Given the description of an element on the screen output the (x, y) to click on. 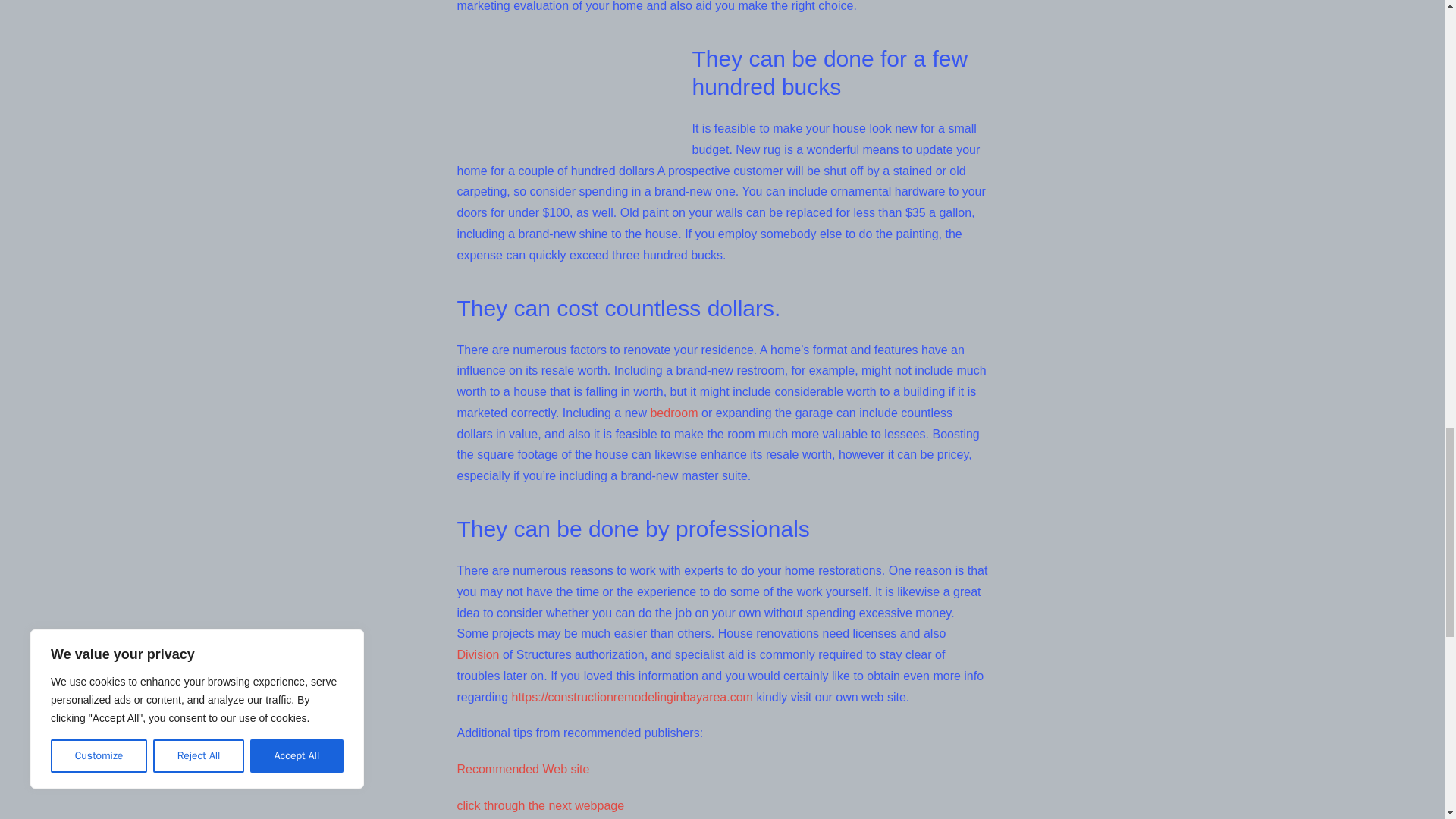
click through the next webpage (540, 805)
Division (478, 654)
Recommended Web site (523, 768)
bedroom (673, 412)
